Given the description of an element on the screen output the (x, y) to click on. 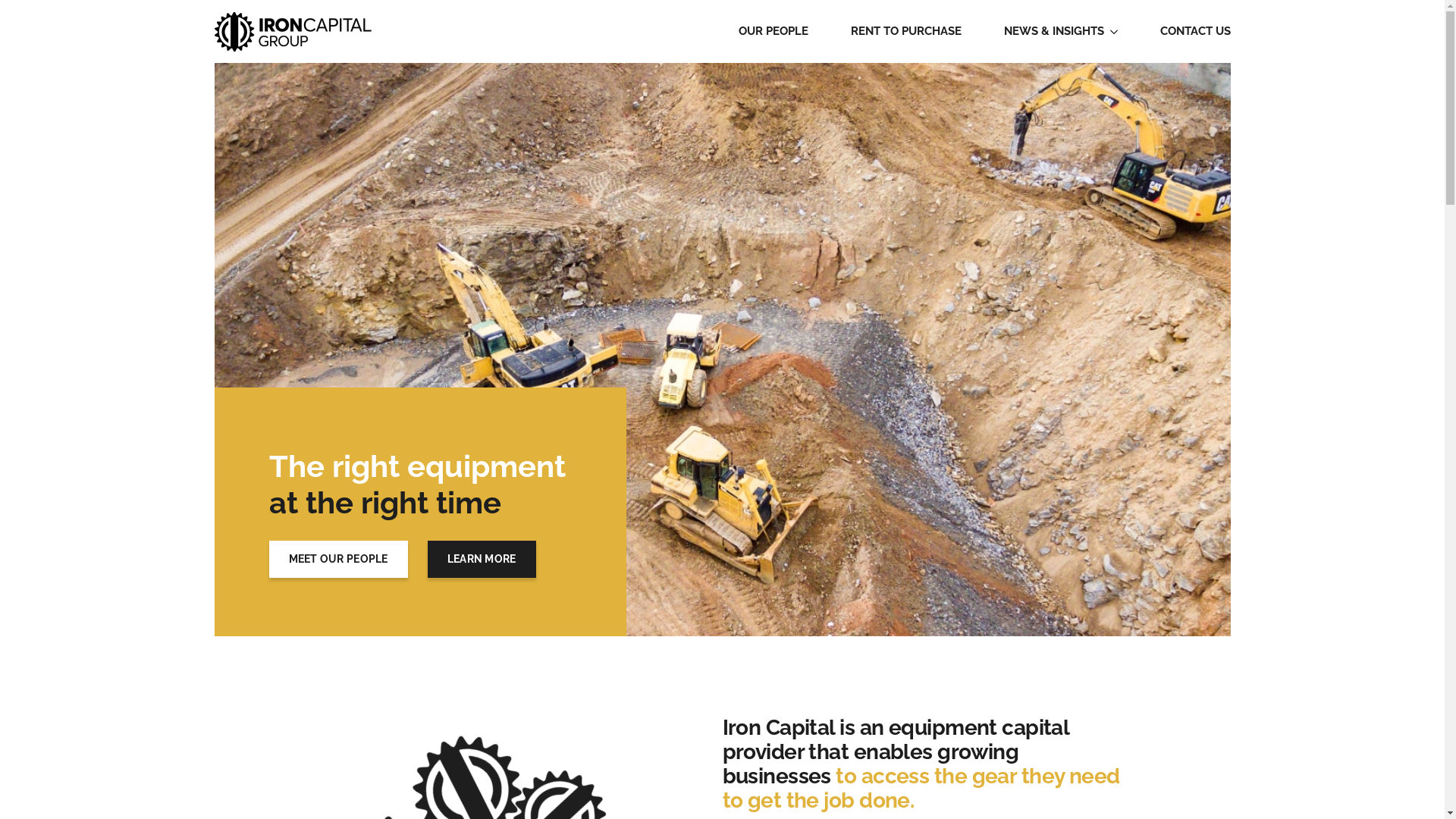
NEWS & INSIGHTS Element type: text (1054, 31)
RENT TO PURCHASE Element type: text (905, 31)
OUR PEOPLE Element type: text (773, 31)
MEET OUR PEOPLE Element type: text (337, 558)
CONTACT US Element type: text (1195, 31)
LEARN MORE Element type: text (481, 558)
